Given the description of an element on the screen output the (x, y) to click on. 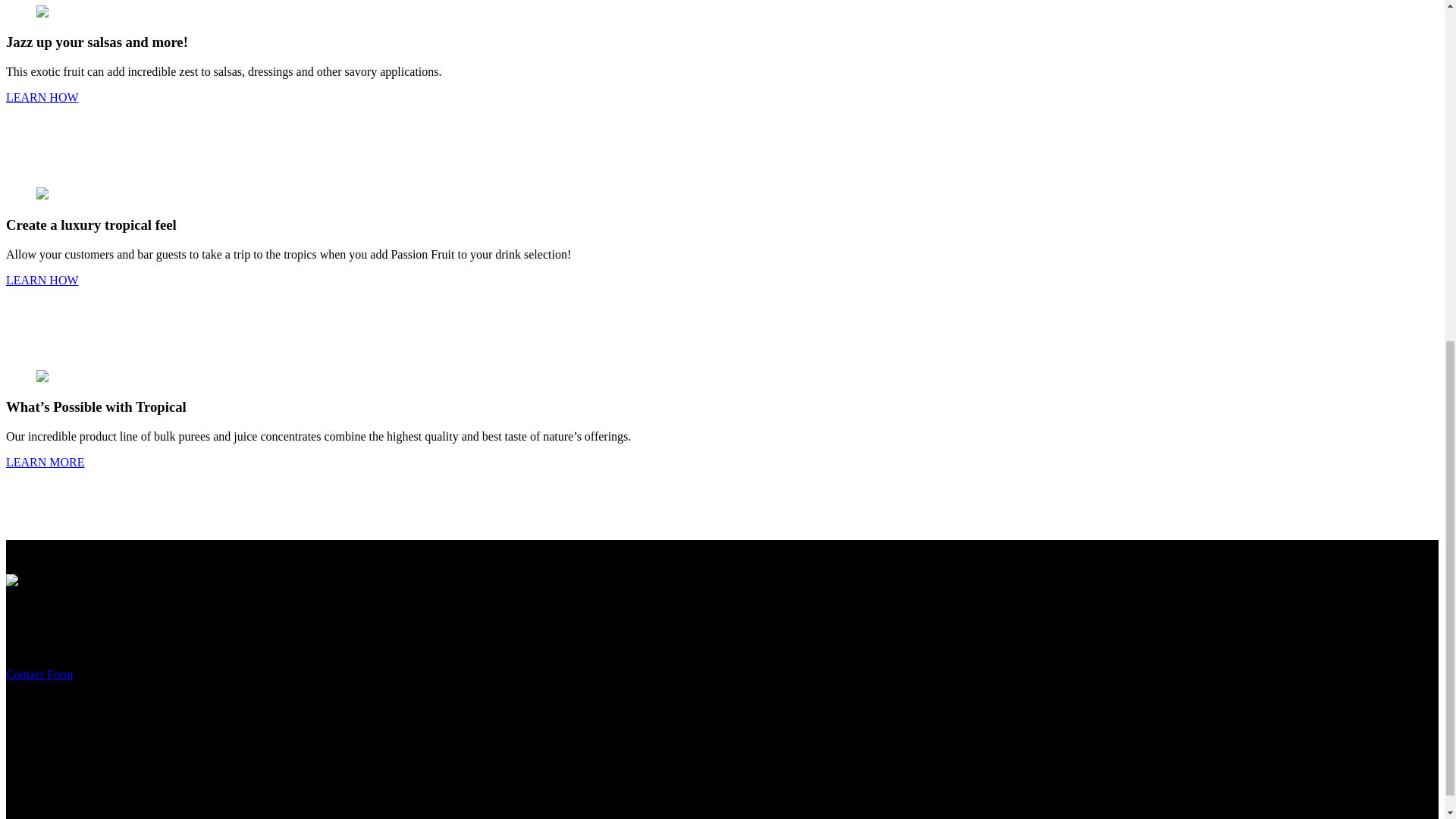
LEARN MORE (44, 461)
LEARN HOW (41, 279)
Contact Form (38, 674)
LEARN HOW (41, 97)
